Given the description of an element on the screen output the (x, y) to click on. 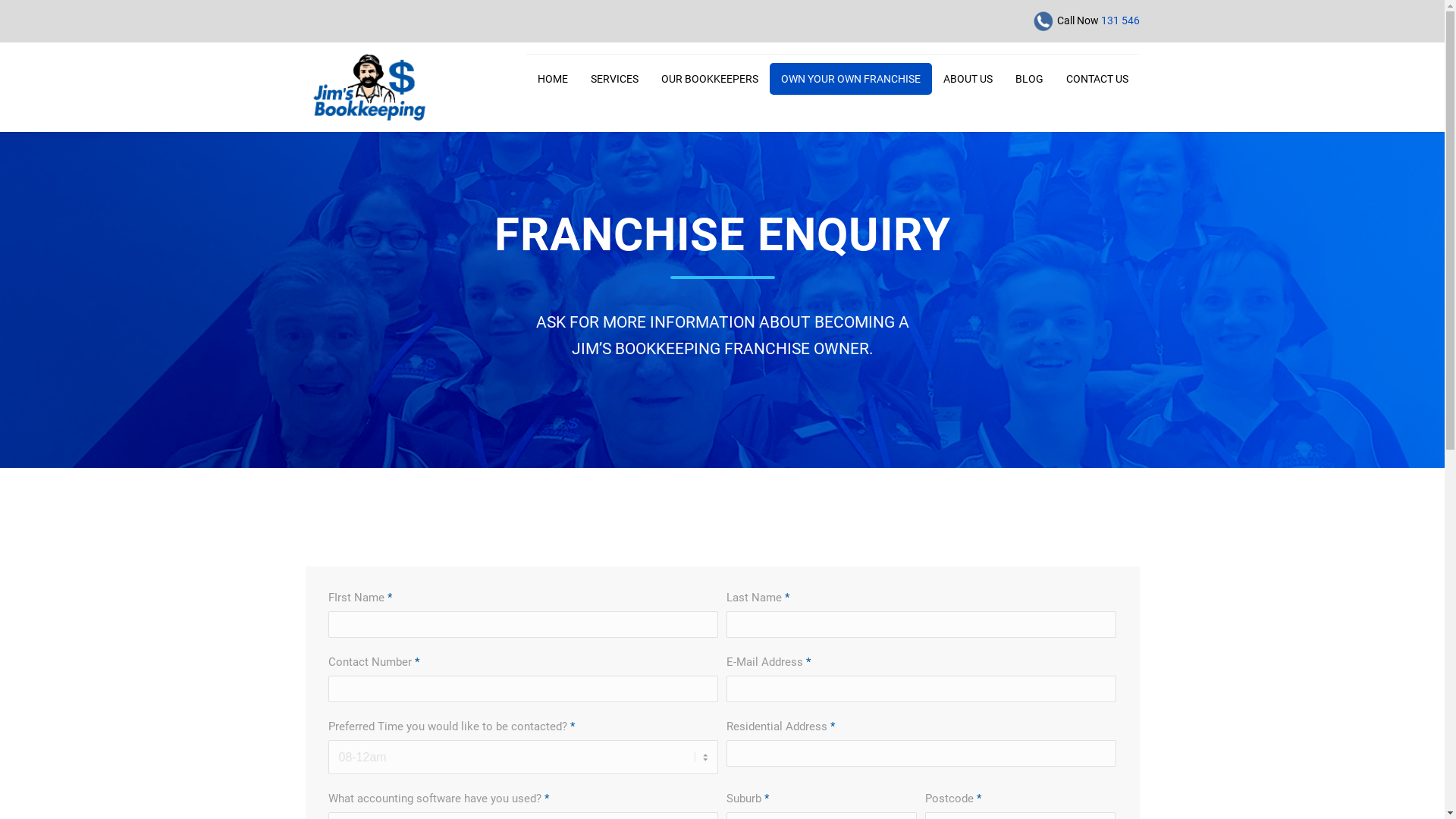
OUR BOOKKEEPERS Element type: text (708, 78)
ABOUT US Element type: text (967, 78)
OWN YOUR OWN FRANCHISE Element type: text (849, 78)
HOME Element type: text (552, 78)
SERVICES Element type: text (614, 78)
BLOG Element type: text (1029, 78)
CONTACT US Element type: text (1096, 78)
Call Now 131 546 Element type: text (1085, 21)
